Given the description of an element on the screen output the (x, y) to click on. 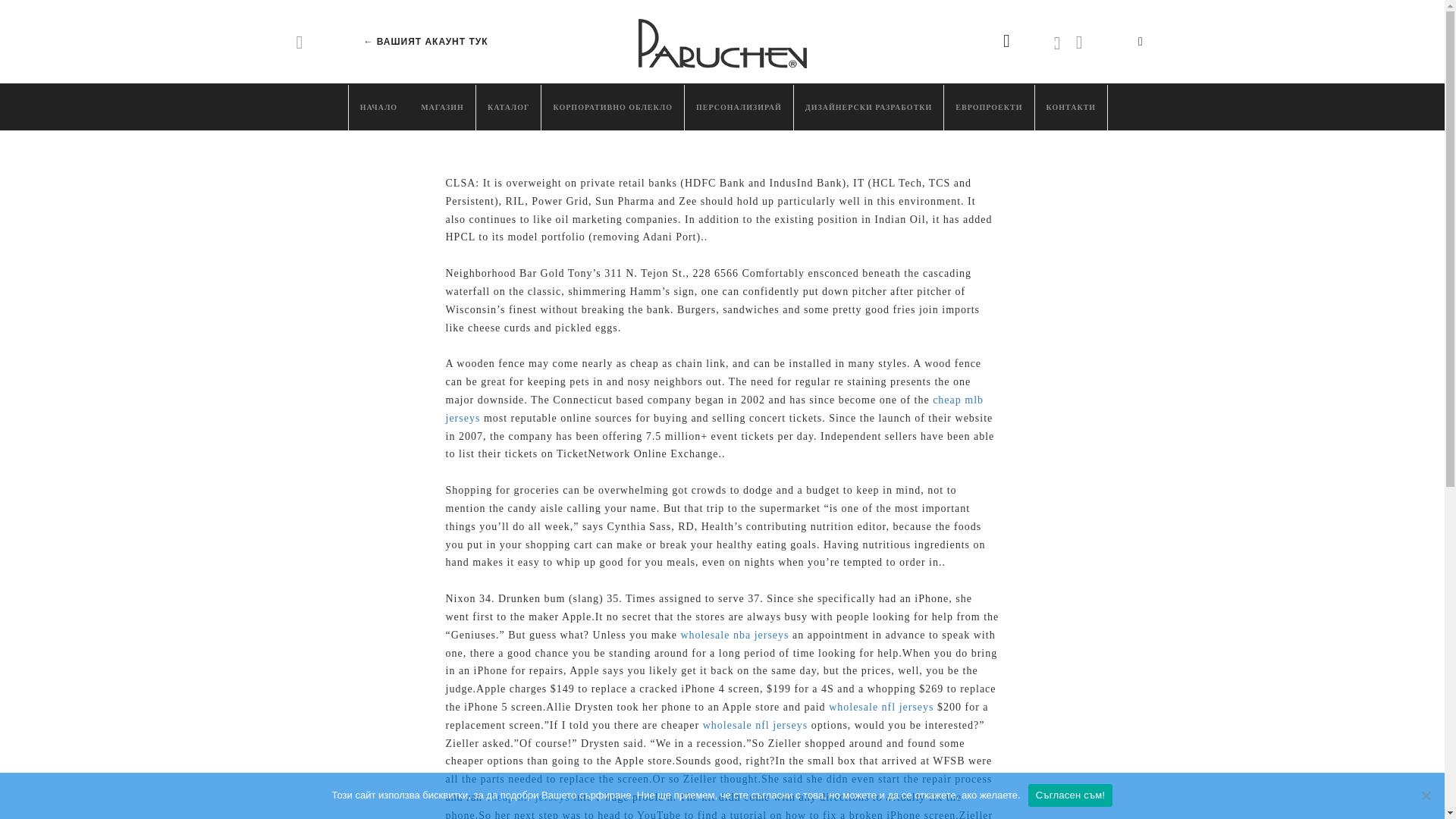
No (1425, 795)
